Given the description of an element on the screen output the (x, y) to click on. 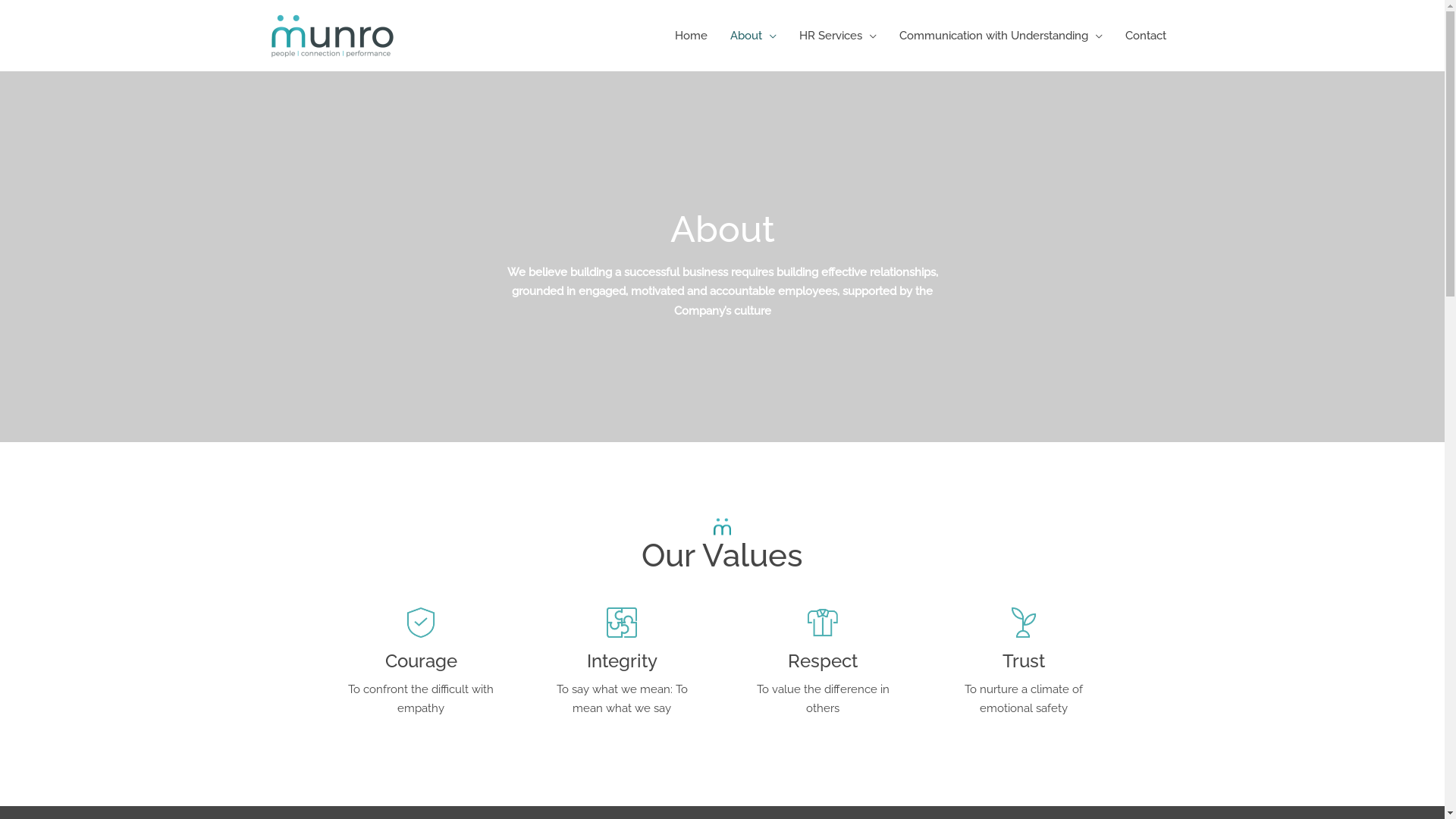
HR Services Element type: text (837, 35)
200911_MG_HomeIcon5_v01 Element type: hover (420, 622)
200911_MG_HomeIcon1_v01 Element type: hover (621, 622)
Communication with Understanding Element type: text (1000, 35)
200911_MG_HomeIcon2_v01 Element type: hover (822, 622)
MG_newfavicon Element type: hover (722, 526)
200911_MG_HomeIcon3_v01 Element type: hover (1023, 622)
Home Element type: text (690, 35)
About Element type: text (752, 35)
Contact Element type: text (1144, 35)
